Given the description of an element on the screen output the (x, y) to click on. 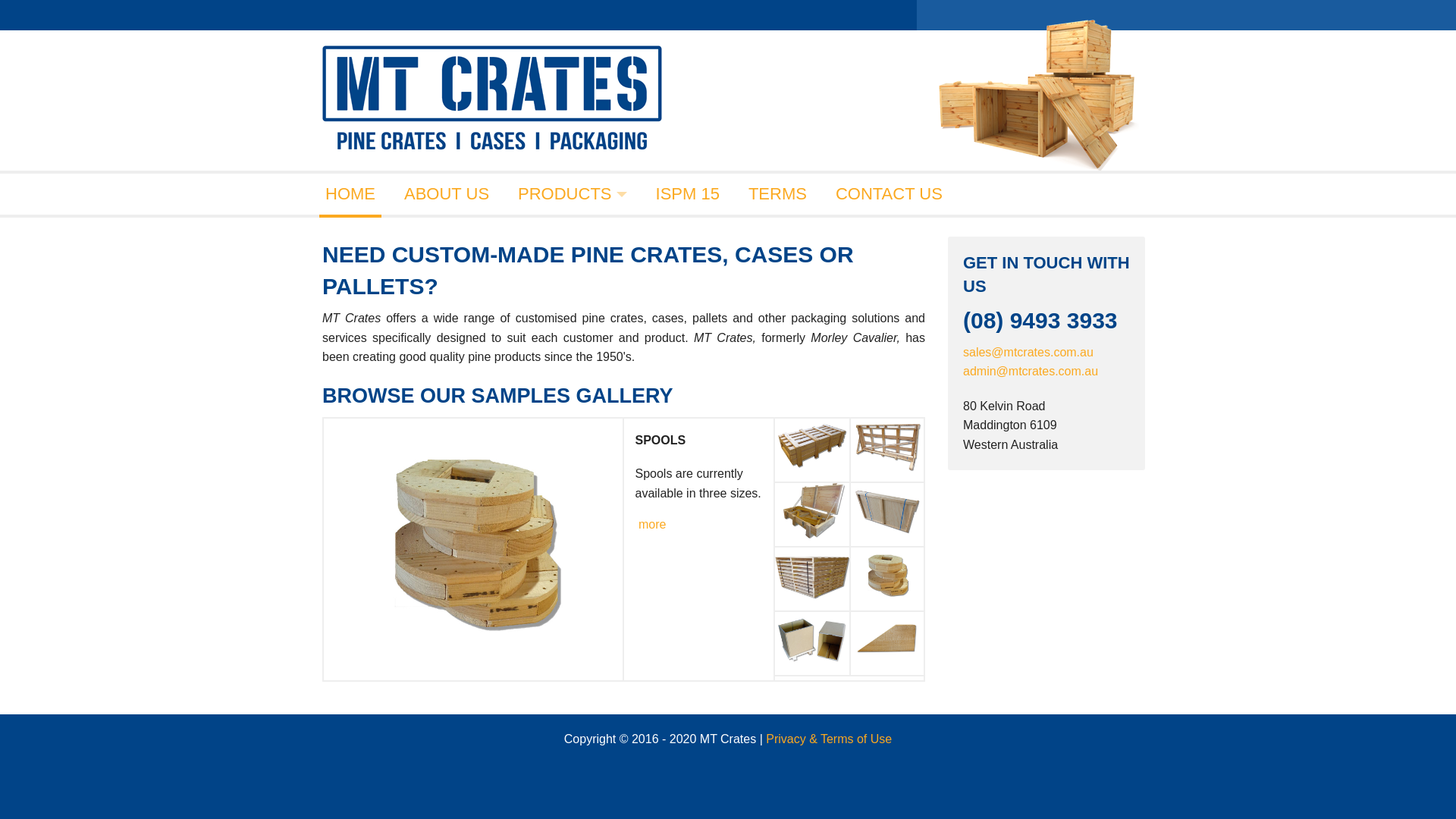
sales@mtcrates.com.au Element type: text (1028, 351)
more Element type: text (651, 523)
PALLETS AND SKIDS Element type: text (571, 401)
SPOOLS Element type: text (571, 442)
GLASS CRATES Element type: text (571, 278)
PINE CRATES Element type: text (571, 237)
PLYWOOD CASES Element type: text (571, 360)
HOME Element type: text (350, 193)
ABOUT US Element type: text (446, 193)
ISPM 15 Element type: text (687, 193)
PACKAGING Element type: text (571, 483)
MISCELLANEOUS Element type: text (571, 524)
admin@mtcrates.com.au Element type: text (1030, 370)
PINE CASES Element type: text (571, 319)
CONTACT US Element type: text (888, 193)
PRODUCTS Element type: text (571, 193)
Privacy & Terms of Use Element type: text (828, 738)
TERMS Element type: text (777, 193)
